Given the description of an element on the screen output the (x, y) to click on. 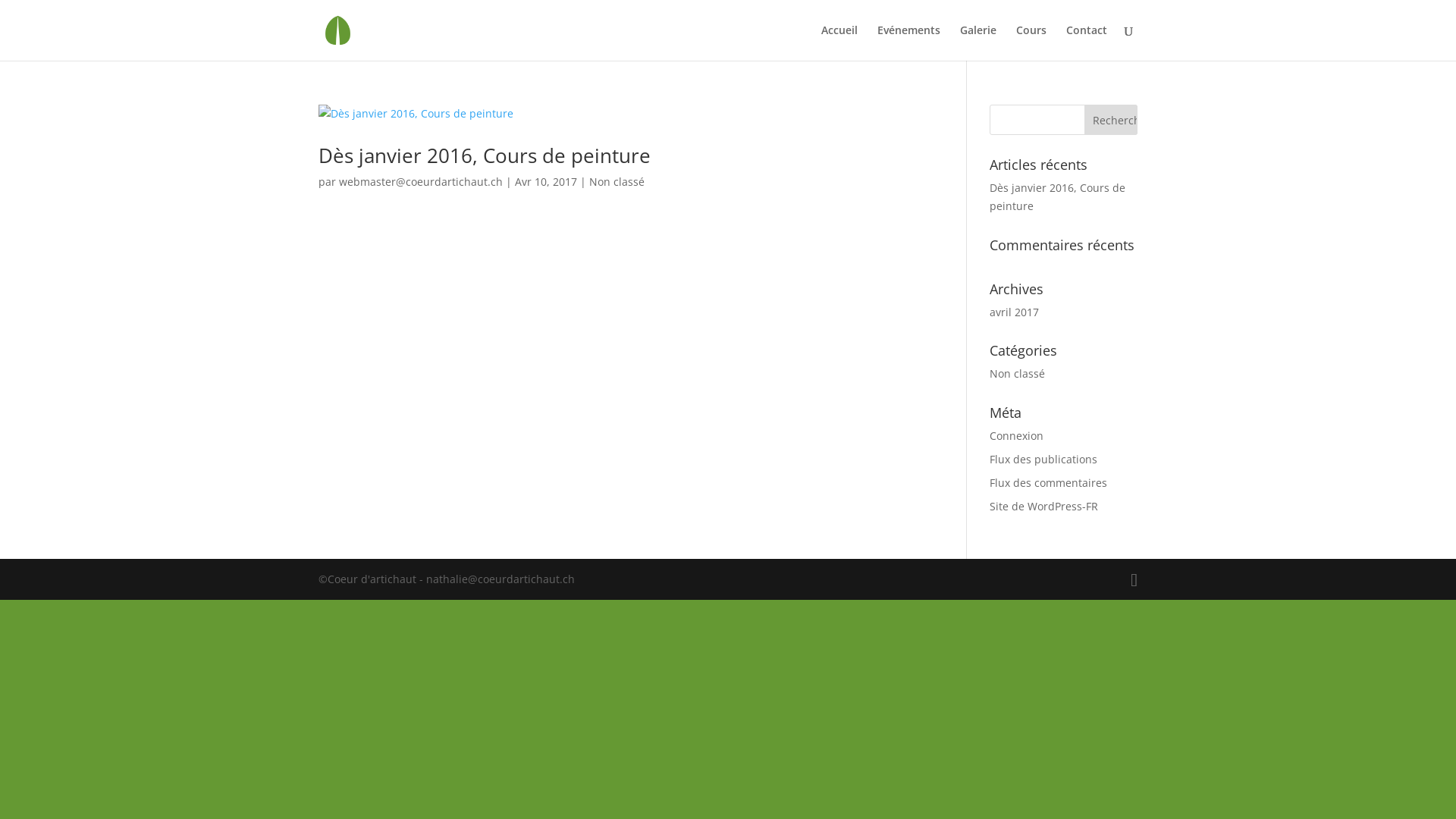
Connexion Element type: text (1016, 435)
Flux des commentaires Element type: text (1048, 482)
avril 2017 Element type: text (1013, 311)
webmaster@coeurdartichaut.ch Element type: text (420, 181)
Accueil Element type: text (839, 42)
Galerie Element type: text (978, 42)
Flux des publications Element type: text (1043, 458)
Contact Element type: text (1086, 42)
Site de WordPress-FR Element type: text (1043, 505)
Rechercher Element type: text (1110, 119)
Cours Element type: text (1031, 42)
